Given the description of an element on the screen output the (x, y) to click on. 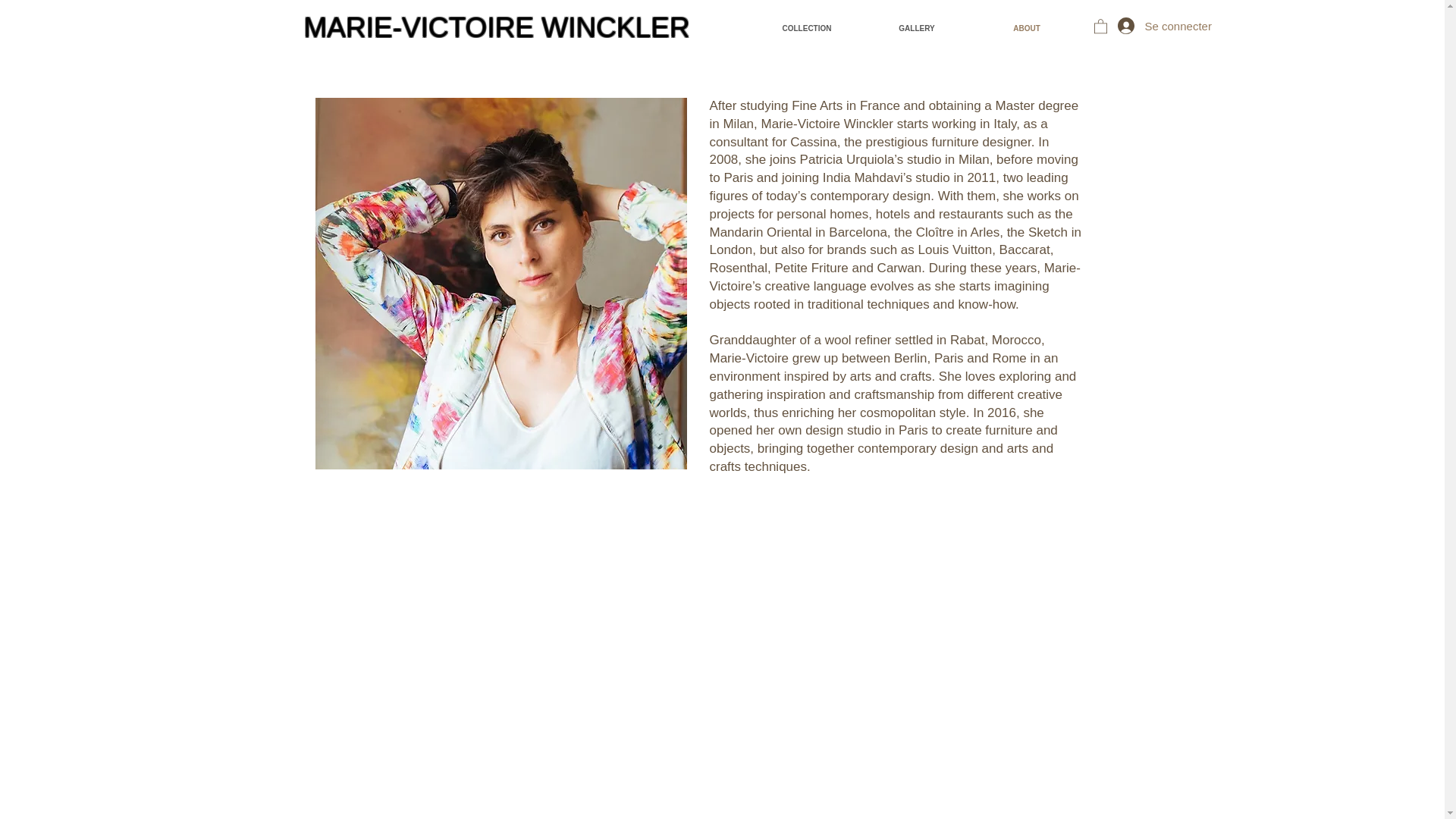
Se connecter (1148, 25)
ABOUT (1026, 28)
MARIE-VICTOIRE WINCKLER  (499, 27)
GALLERY (916, 28)
COLLECTION (806, 28)
